Given the description of an element on the screen output the (x, y) to click on. 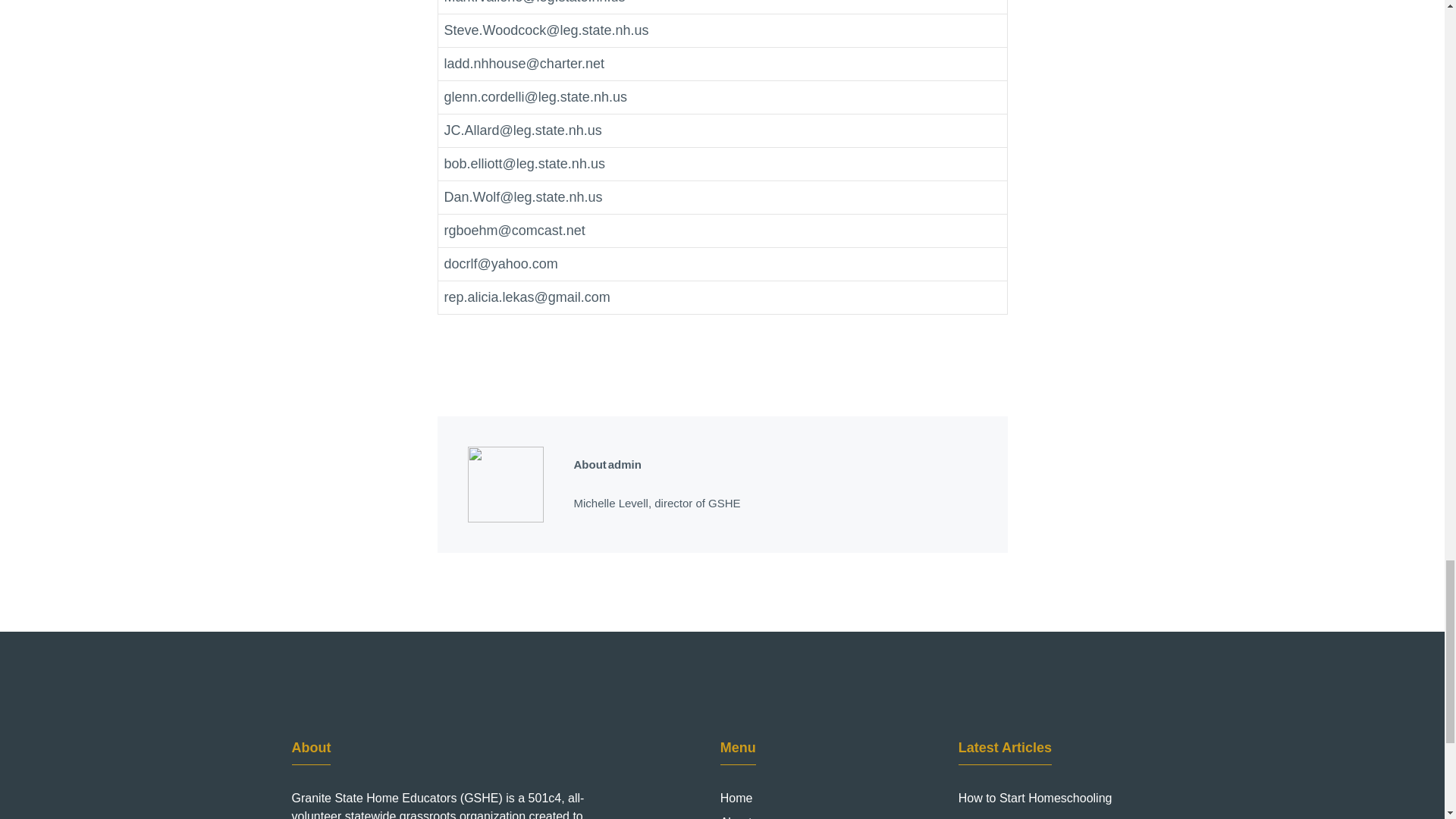
How to Start Homeschooling (1035, 797)
About (736, 816)
Home (736, 798)
